Given the description of an element on the screen output the (x, y) to click on. 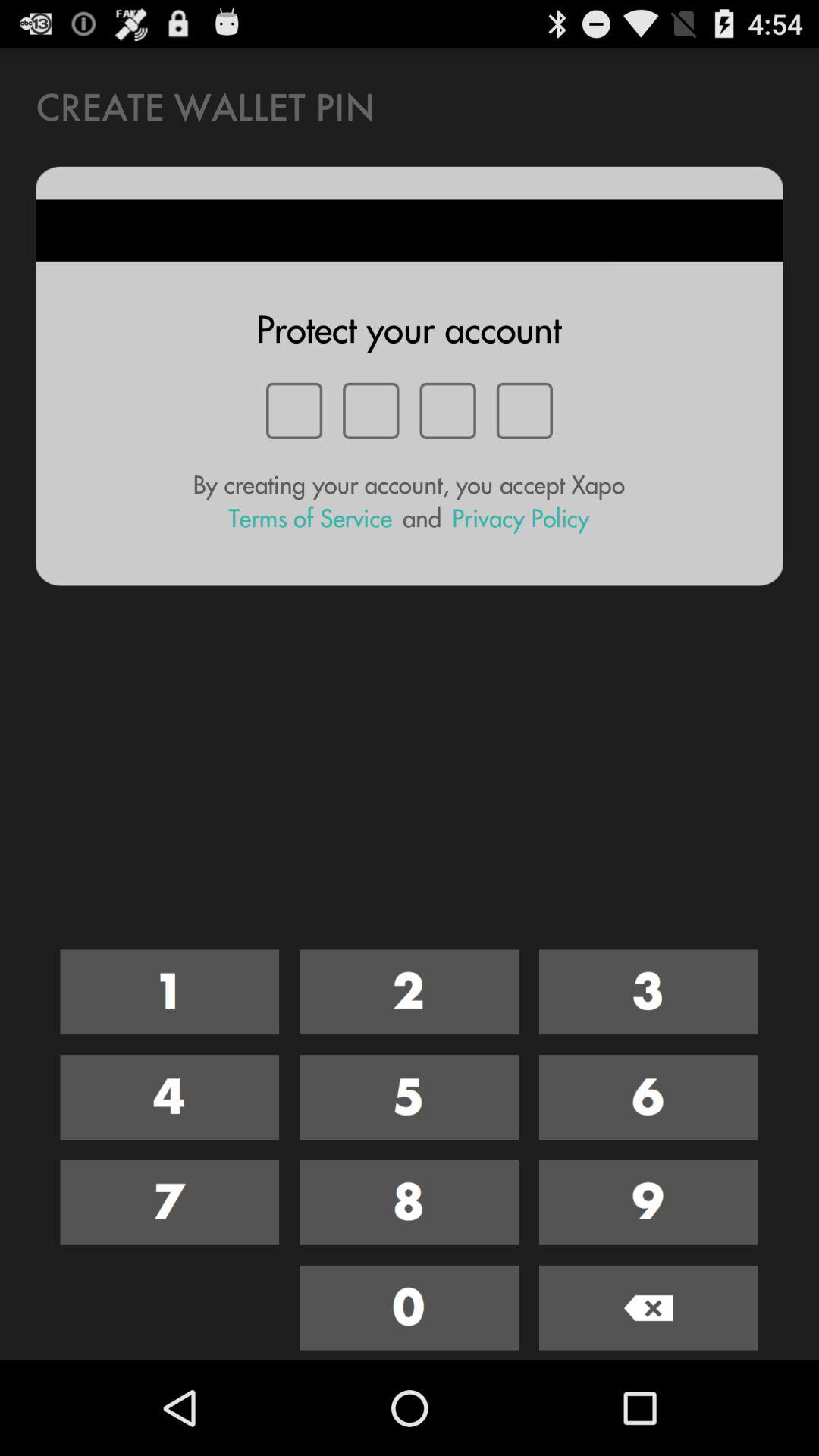
select digit (169, 1202)
